Given the description of an element on the screen output the (x, y) to click on. 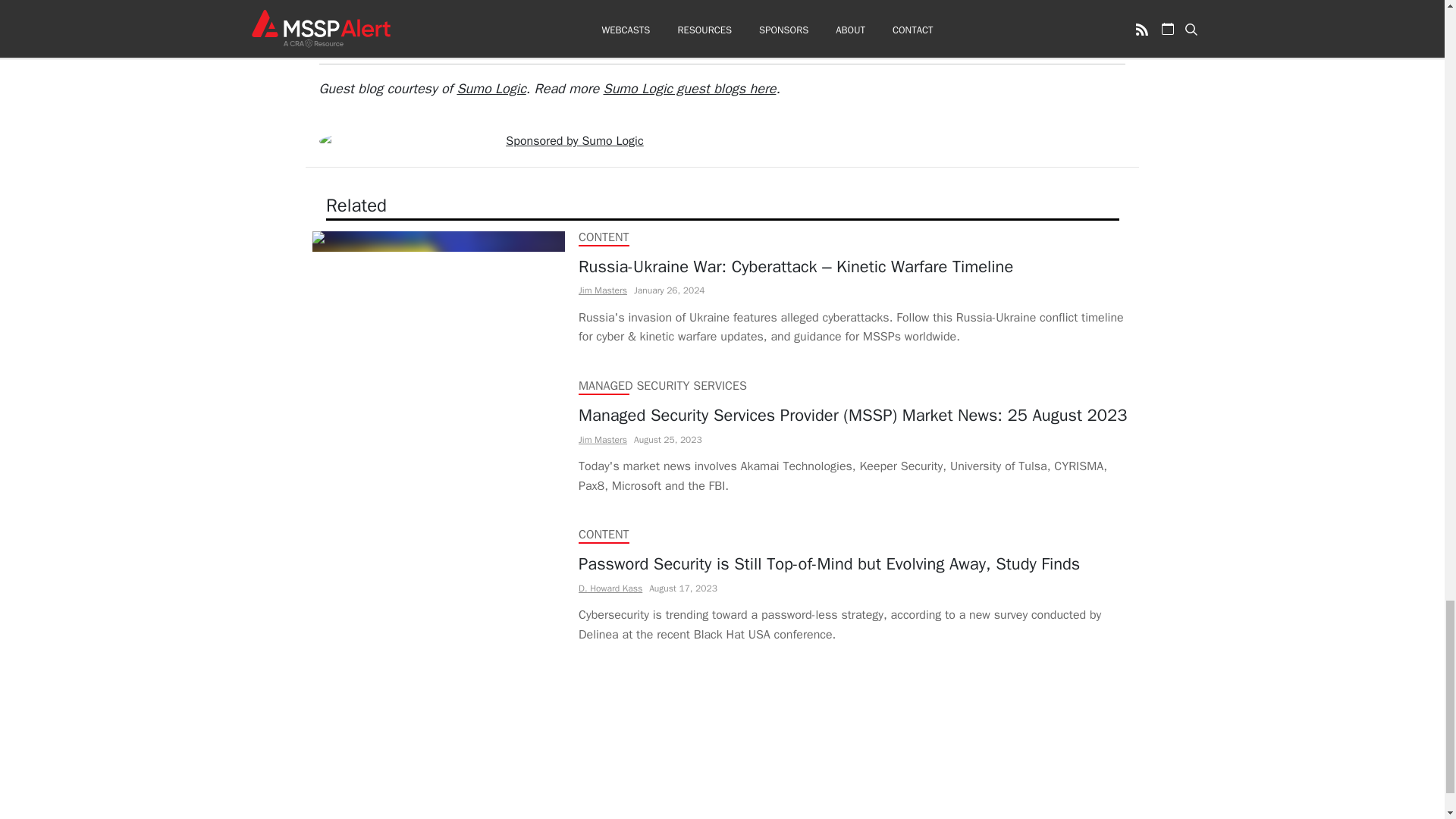
MANAGED SECURITY SERVICES (661, 385)
Sponsored by Sumo Logic (574, 140)
Jim Masters (602, 439)
Sumo Logic guest blogs here (690, 88)
CONTENT (603, 534)
CONTENT (603, 237)
D. Howard Kass (610, 587)
Sumo Logic (491, 88)
Jim Masters (602, 290)
